Given the description of an element on the screen output the (x, y) to click on. 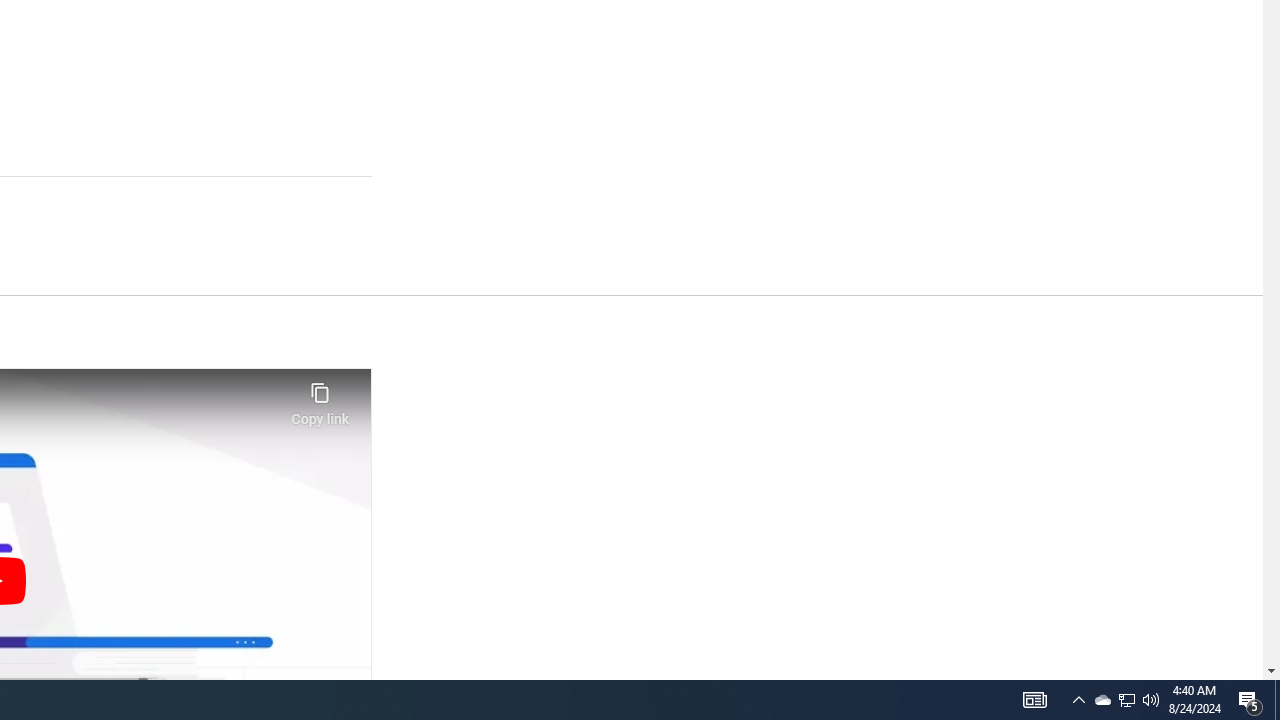
Copy link (319, 398)
